Given the description of an element on the screen output the (x, y) to click on. 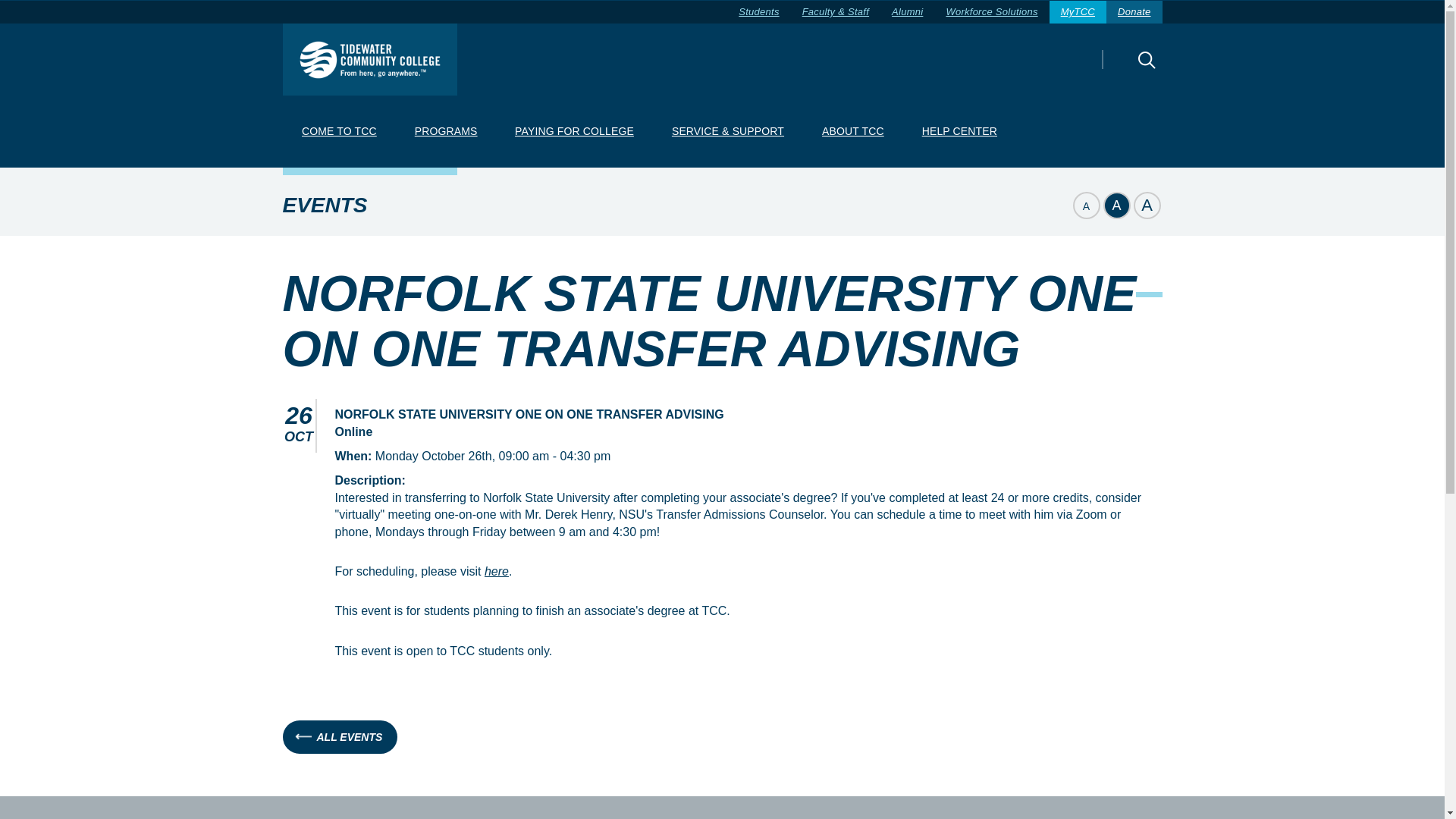
Donate (1133, 11)
MyTCC (1077, 11)
Set page copy to small size (1085, 205)
Workforce Solutions (991, 11)
Alumni (907, 11)
Search (1119, 70)
PAYING FOR COLLEGE (574, 131)
Set page copy to large size (1146, 205)
COME TO TCC (338, 131)
Students (758, 11)
